Given the description of an element on the screen output the (x, y) to click on. 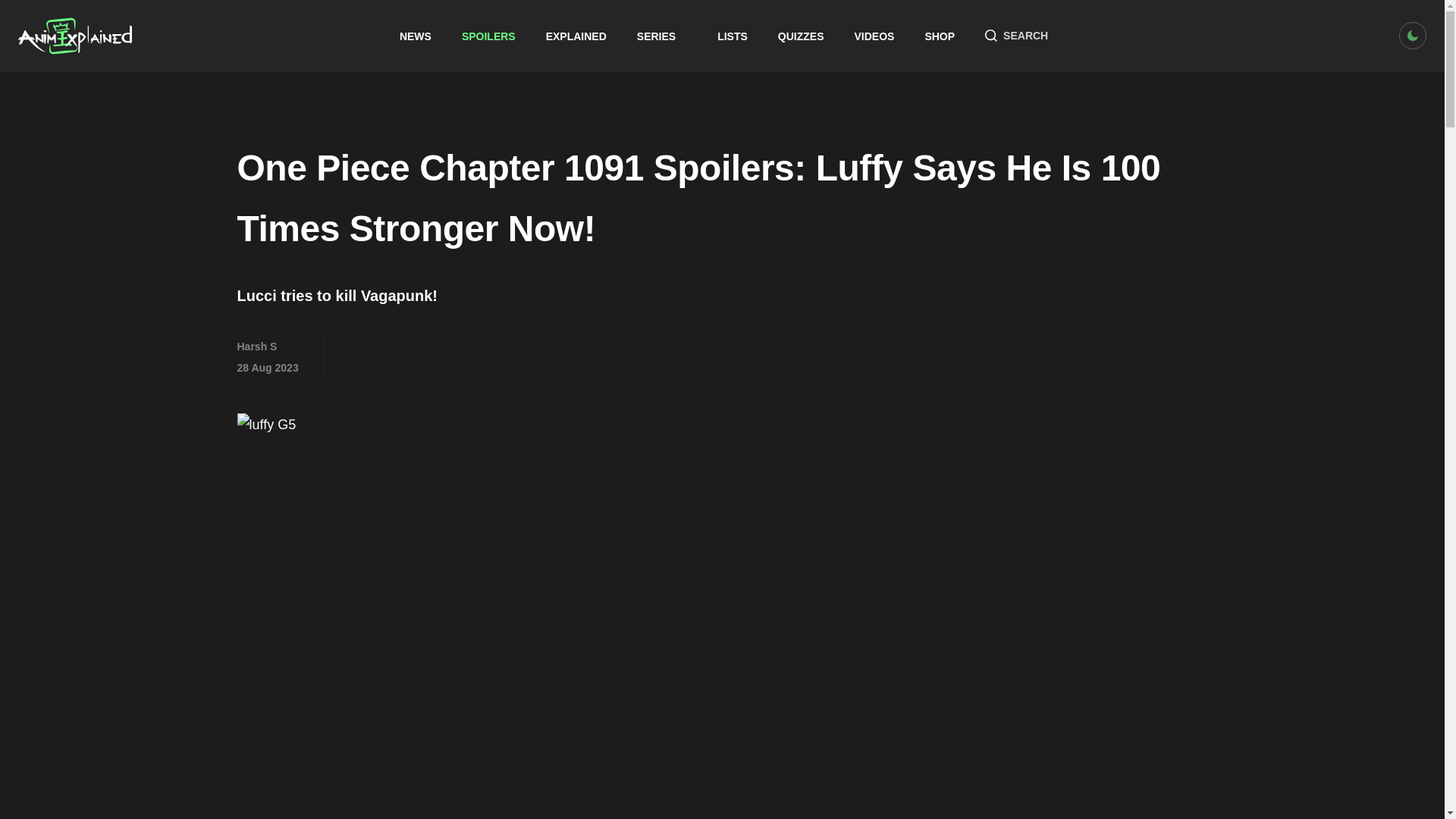
SERIES (662, 36)
dark mode (1412, 35)
SPOILERS (488, 36)
EXPLAINED (576, 36)
NEWS (414, 36)
QUIZZES (800, 36)
Harsh S (255, 346)
LISTS (732, 36)
SHOP (939, 36)
VIDEOS (874, 36)
